Given the description of an element on the screen output the (x, y) to click on. 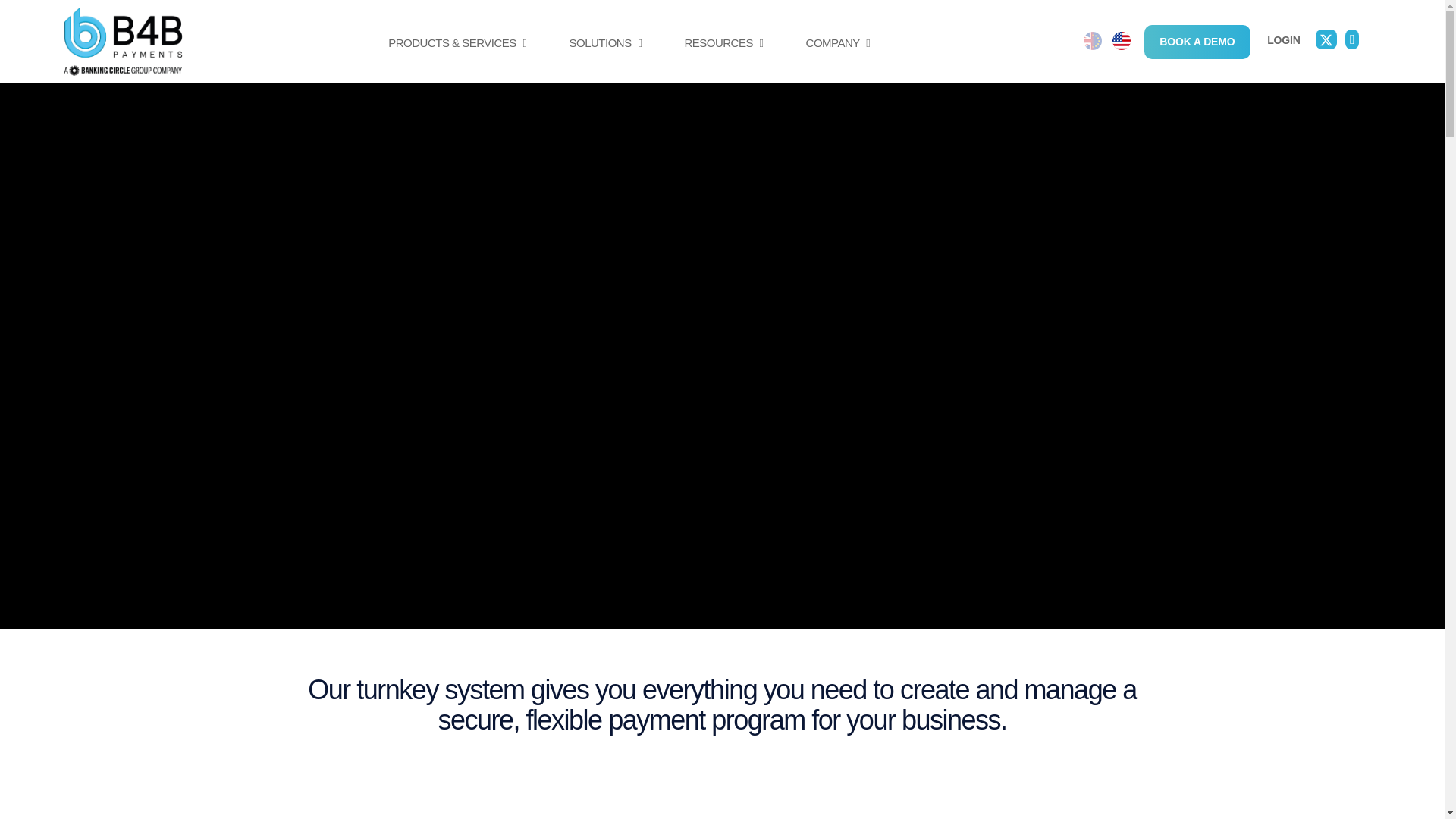
BOOK A DEMO (1196, 41)
SOLUTIONS (604, 59)
RESOURCES (723, 59)
LOGIN (1283, 39)
COMPANY (837, 59)
